Given the description of an element on the screen output the (x, y) to click on. 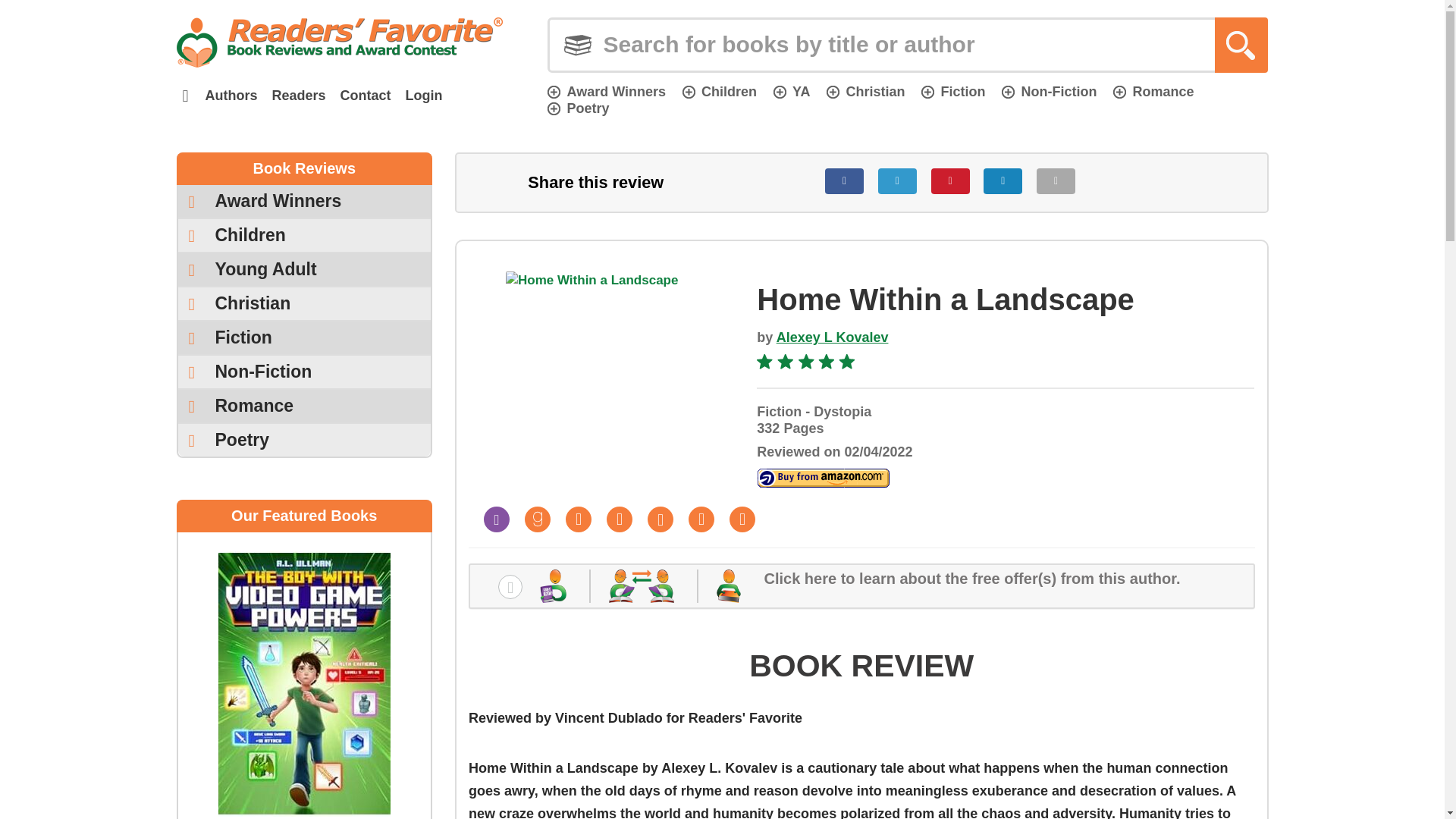
Award Winners (303, 202)
Login (423, 96)
Christian (865, 91)
Readers' Favorite (339, 42)
Fiction (953, 91)
Authors (230, 96)
Children (719, 91)
Non-Fiction (1048, 91)
Award Winners (606, 91)
Contact (365, 96)
